Given the description of an element on the screen output the (x, y) to click on. 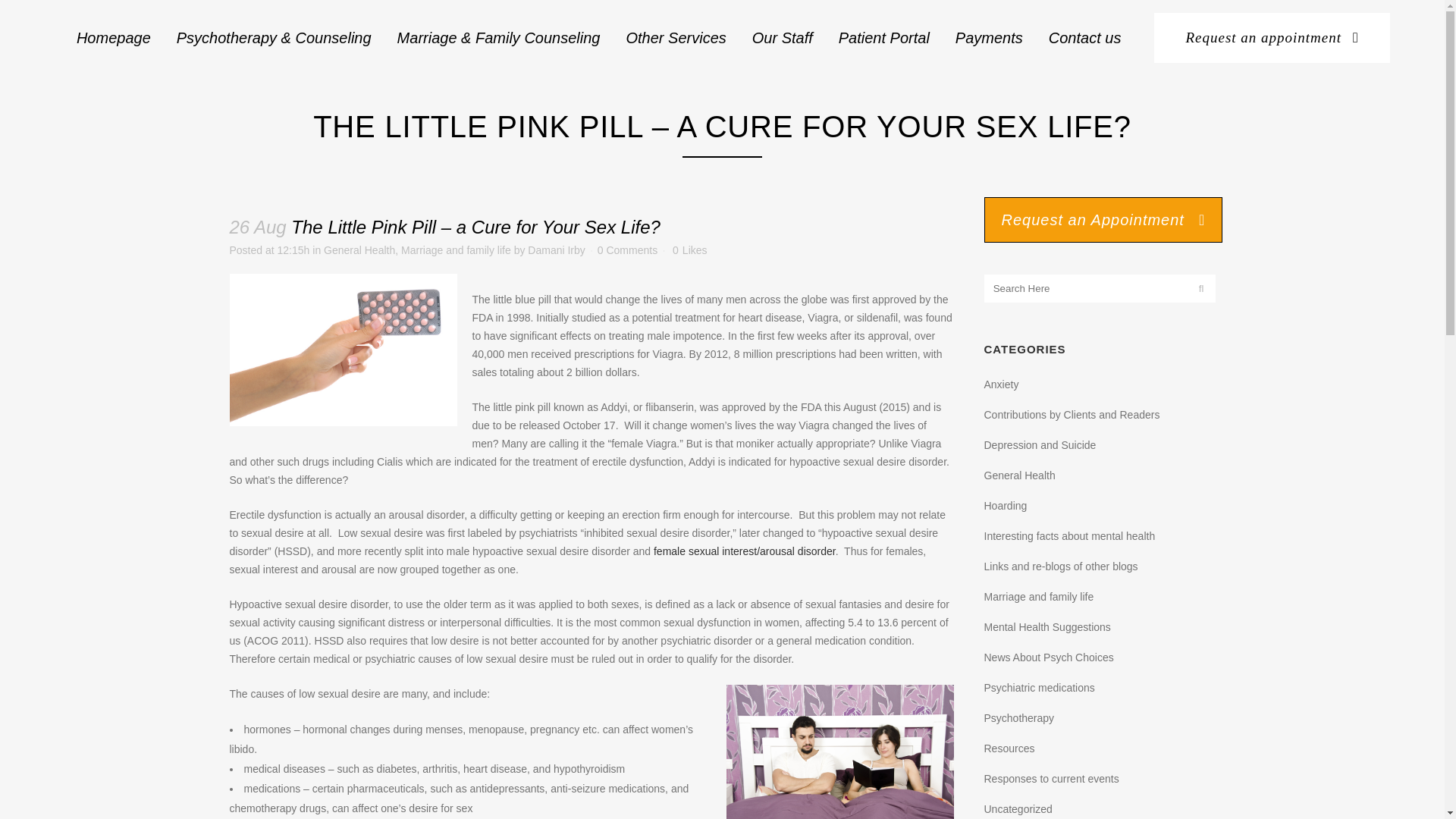
Our Staff (782, 38)
Like this (689, 249)
Homepage (113, 38)
Other Services (675, 38)
Contact us (1084, 38)
Request an appointment (1272, 38)
Payments (988, 38)
Patient Portal (883, 38)
